Given the description of an element on the screen output the (x, y) to click on. 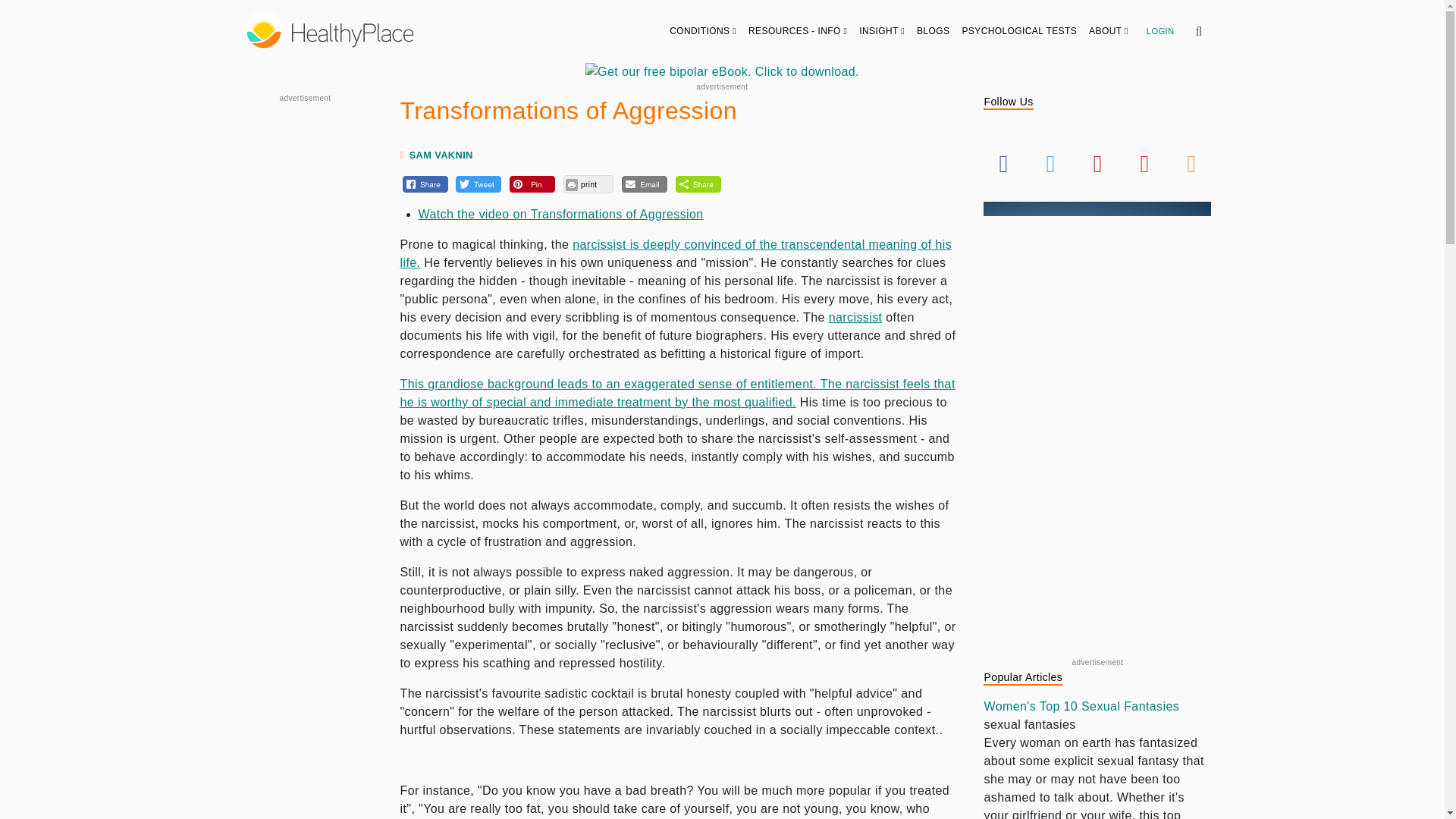
Get our free bipolar eBook. Click to download. (722, 72)
Narcissistic Personality Disorder Symptoms (855, 317)
RESOURCES - INFO (797, 31)
CONDITIONS (702, 31)
INSIGHT (882, 31)
Inner Dialog and Narcissism (676, 253)
Narcissism and Grandiose Fantasies  (677, 392)
